Given the description of an element on the screen output the (x, y) to click on. 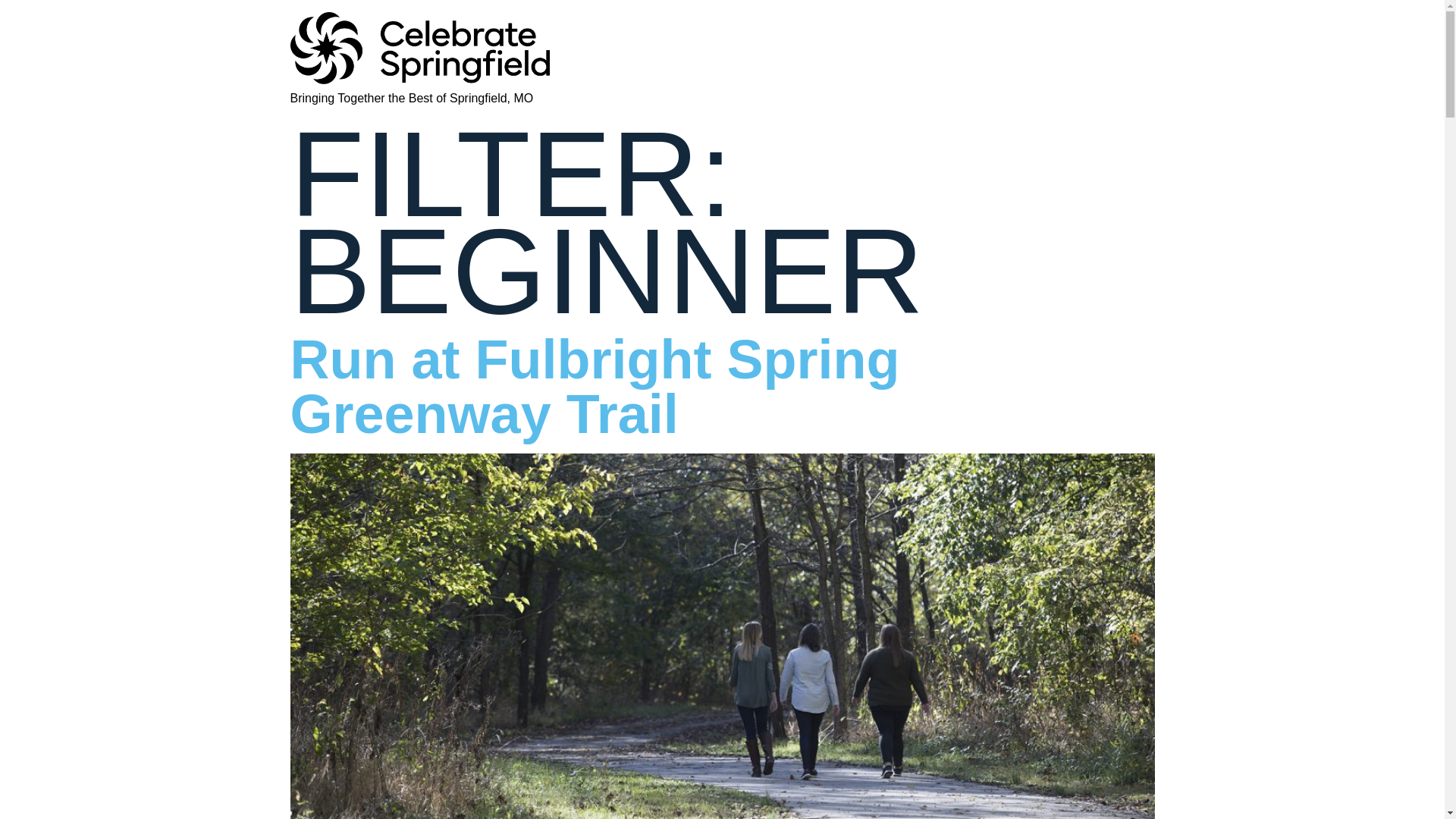
Run at Fulbright Spring Greenway Trail (594, 386)
